Given the description of an element on the screen output the (x, y) to click on. 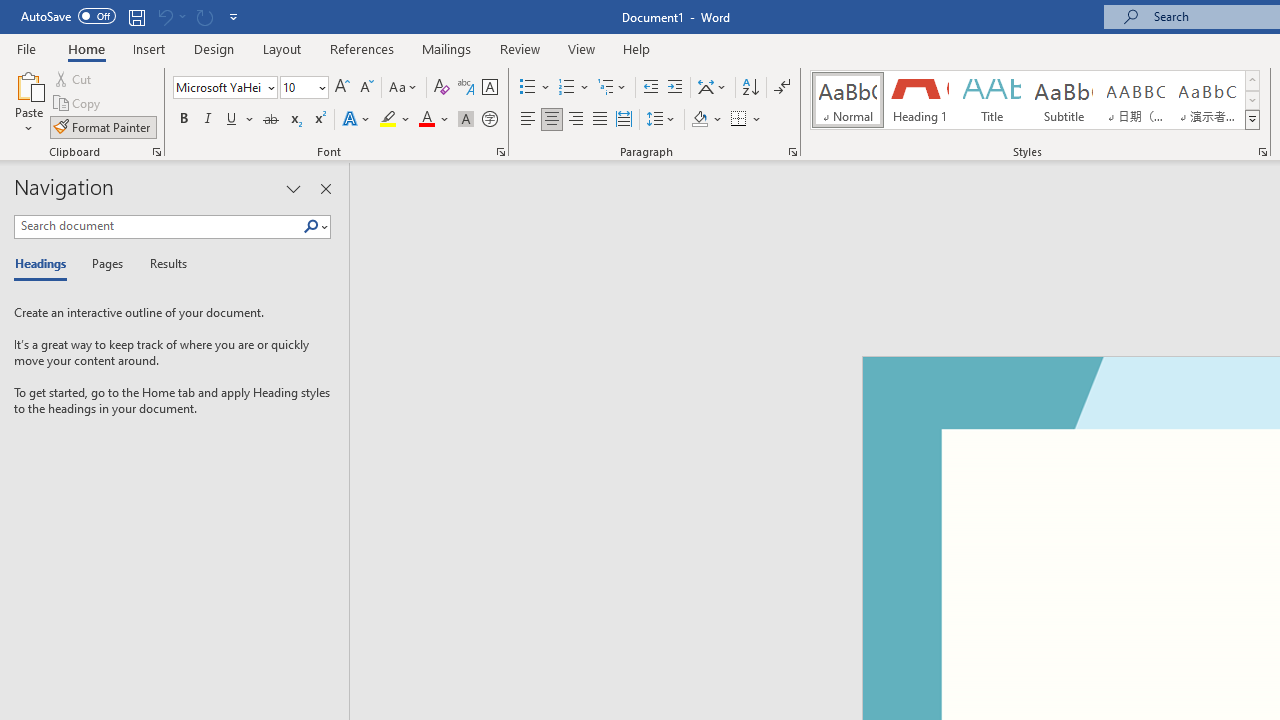
Results (161, 264)
Italic (207, 119)
Sort... (750, 87)
Row up (1252, 79)
Can't Undo (170, 15)
Paste (28, 84)
Character Border (489, 87)
Borders (746, 119)
Can't Undo (164, 15)
Asian Layout (712, 87)
Text Highlight Color (395, 119)
Save (136, 15)
Bold (183, 119)
Copy (78, 103)
